Given the description of an element on the screen output the (x, y) to click on. 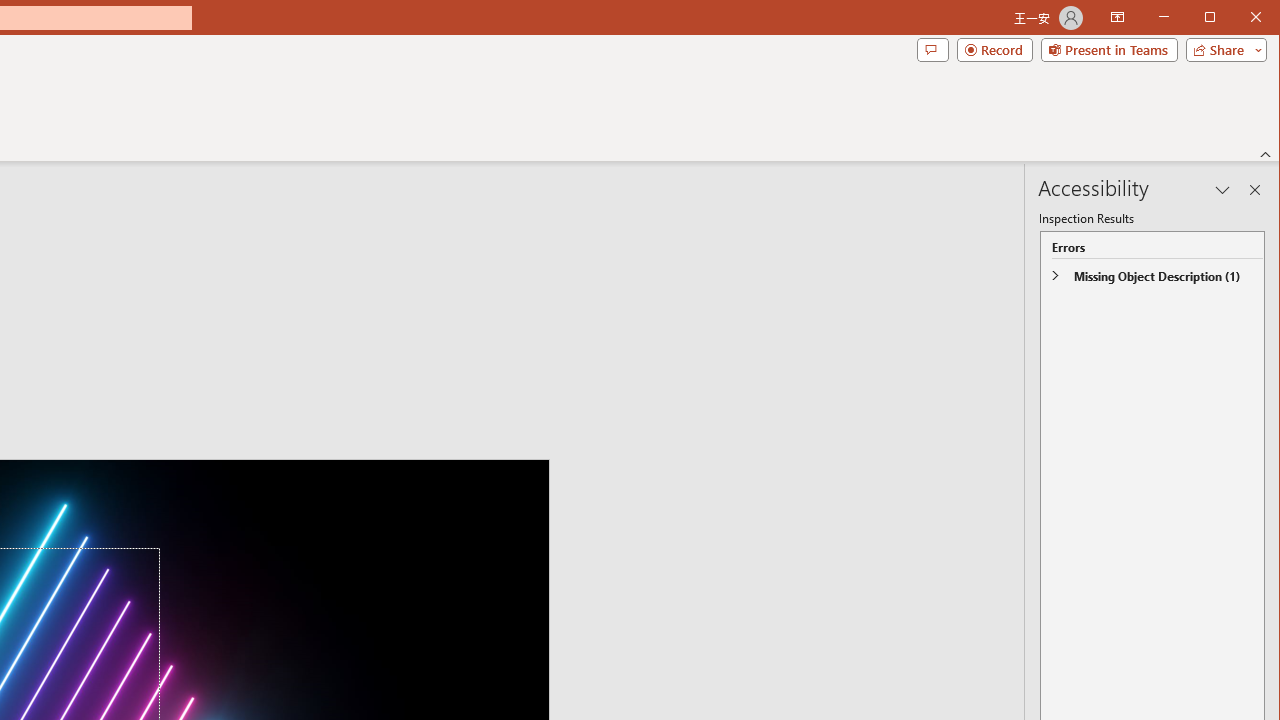
Maximize (1238, 18)
